Given the description of an element on the screen output the (x, y) to click on. 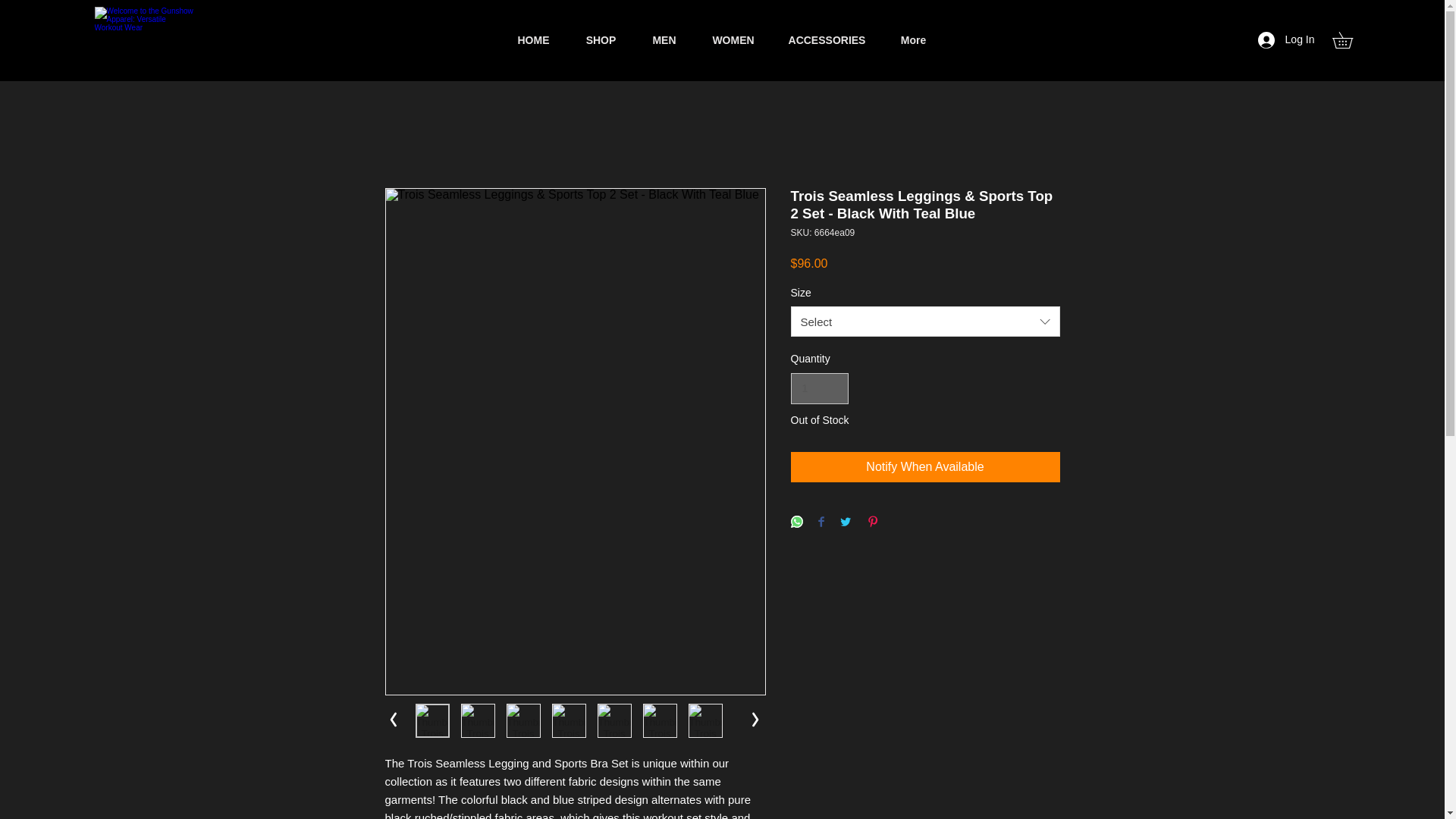
SHOP (600, 39)
1 (818, 388)
MEN (663, 39)
Select (924, 321)
Notify When Available (924, 467)
Log In (1285, 40)
WOMEN (733, 39)
HOME (533, 39)
ACCESSORIES (825, 39)
